Given the description of an element on the screen output the (x, y) to click on. 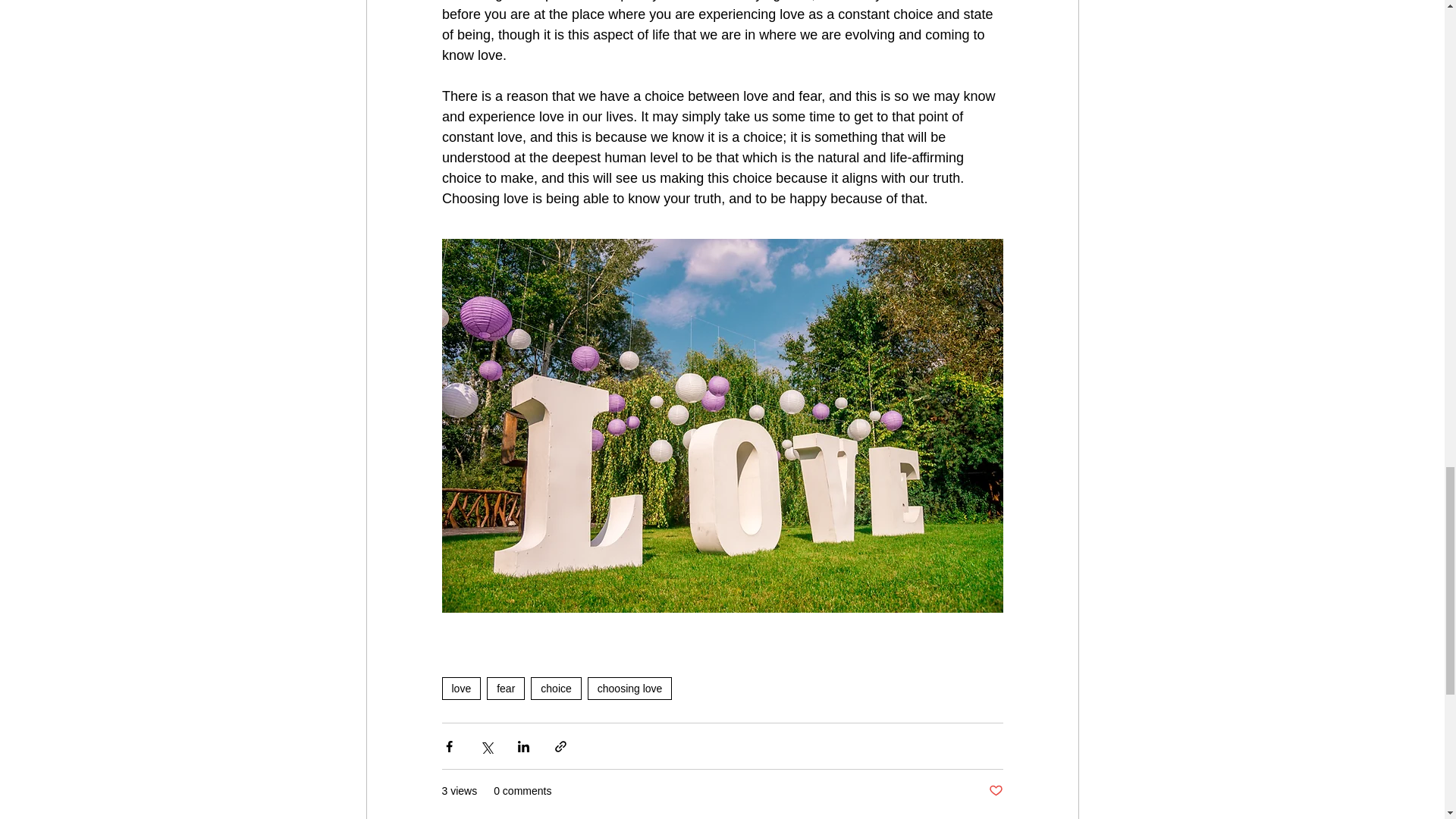
Post not marked as liked (995, 790)
choice (555, 688)
fear (505, 688)
choosing love (630, 688)
love (460, 688)
